Given the description of an element on the screen output the (x, y) to click on. 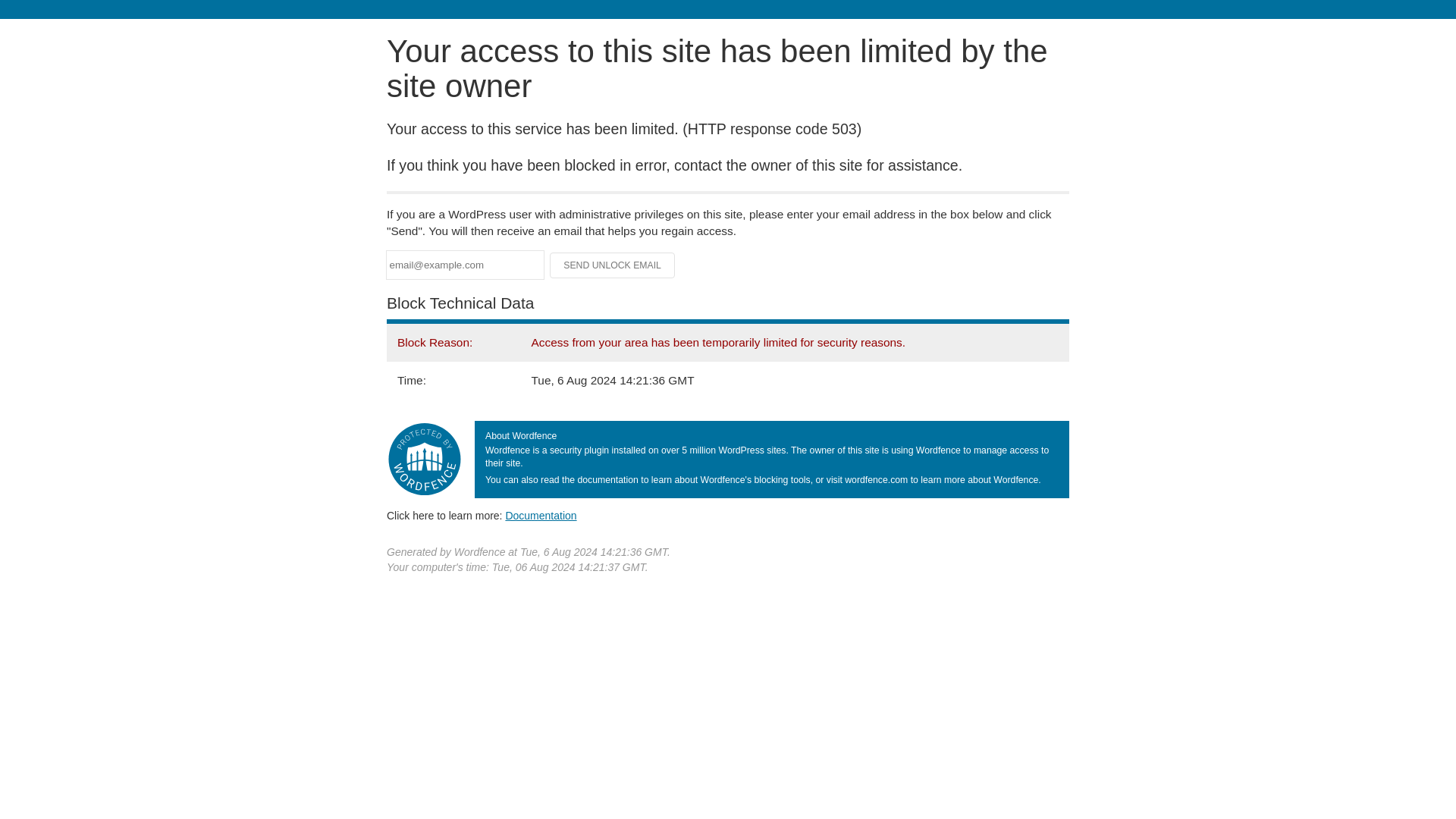
Documentation (540, 515)
Send Unlock Email (612, 265)
Send Unlock Email (612, 265)
